Given the description of an element on the screen output the (x, y) to click on. 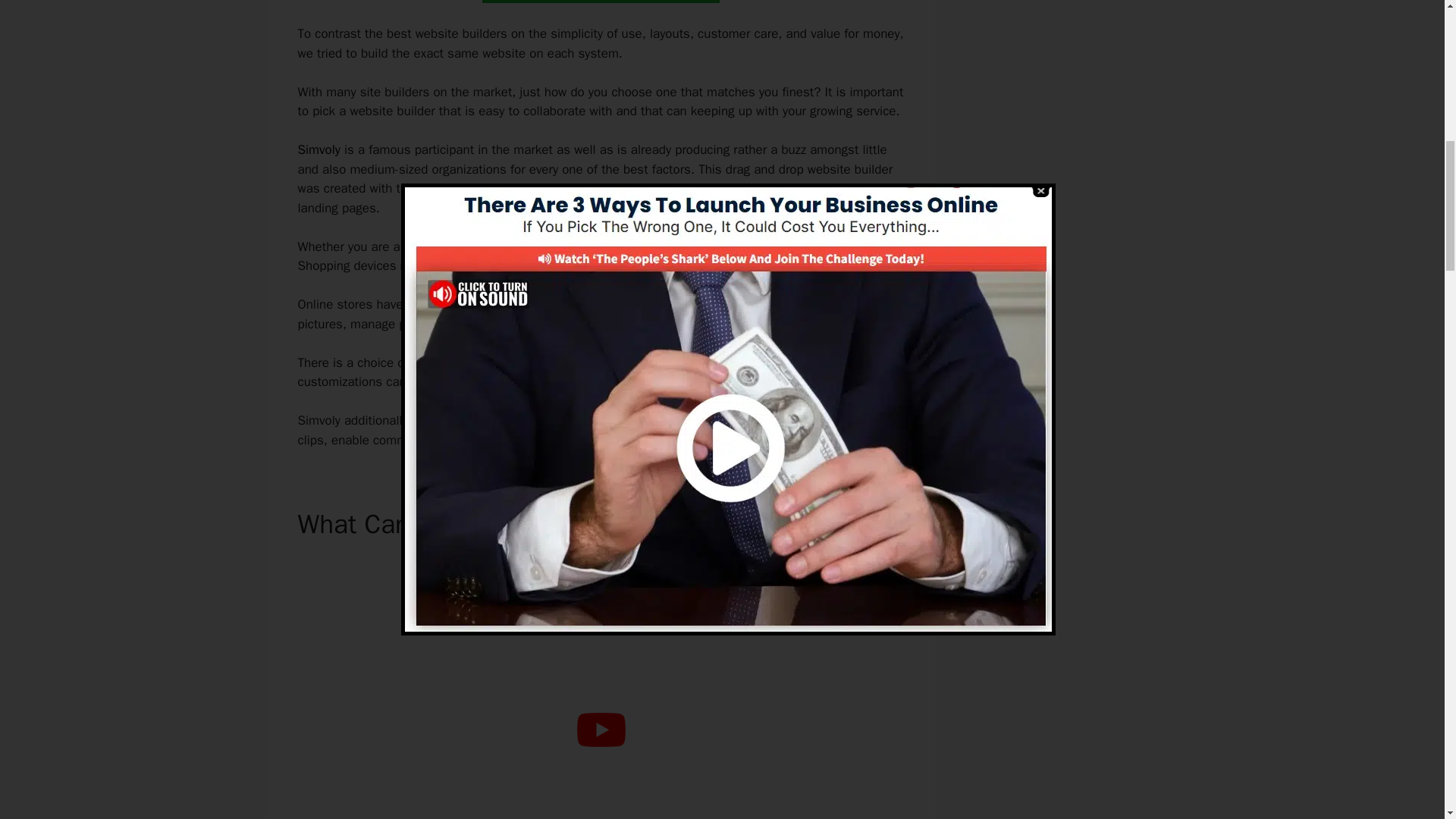
Scroll back to top (1406, 720)
See Simvoly Demo Here (600, 1)
Simvoly (318, 149)
